Given the description of an element on the screen output the (x, y) to click on. 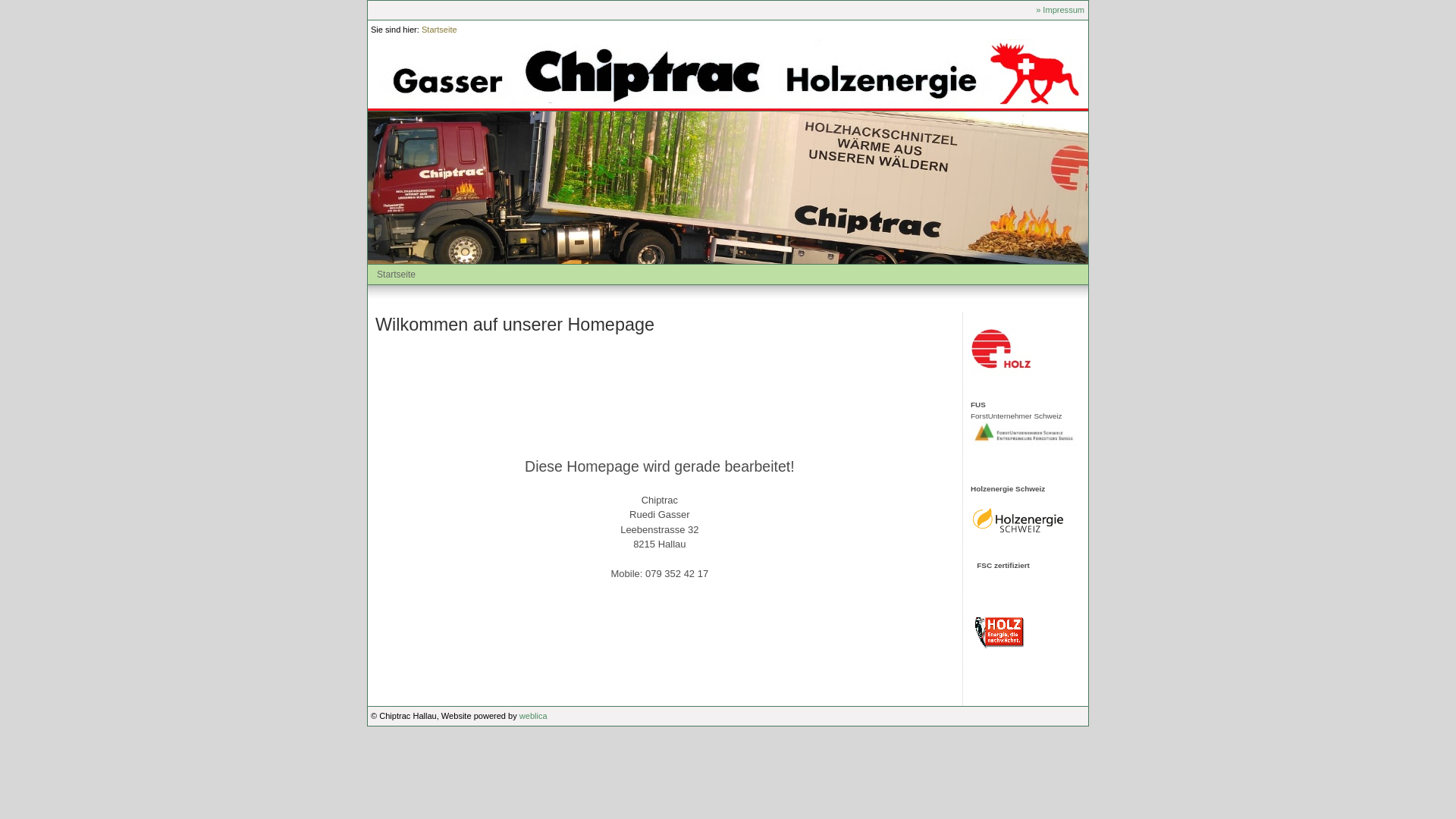
Holz_Energie.png Element type: hover (1000, 630)
logoHes.png Element type: hover (1019, 520)
Herkunftszeichen Schweizer Holz Element type: hover (1012, 352)
Startseite Element type: text (395, 274)
weblica Element type: text (533, 715)
Startseite Element type: text (439, 29)
logo_FUS.jpg Element type: hover (1024, 433)
Logo_sw_mit_elch_ohne_strich-300413.jpg Element type: hover (727, 74)
134360_120705_wissen_wald.jpg Element type: hover (727, 187)
